Given the description of an element on the screen output the (x, y) to click on. 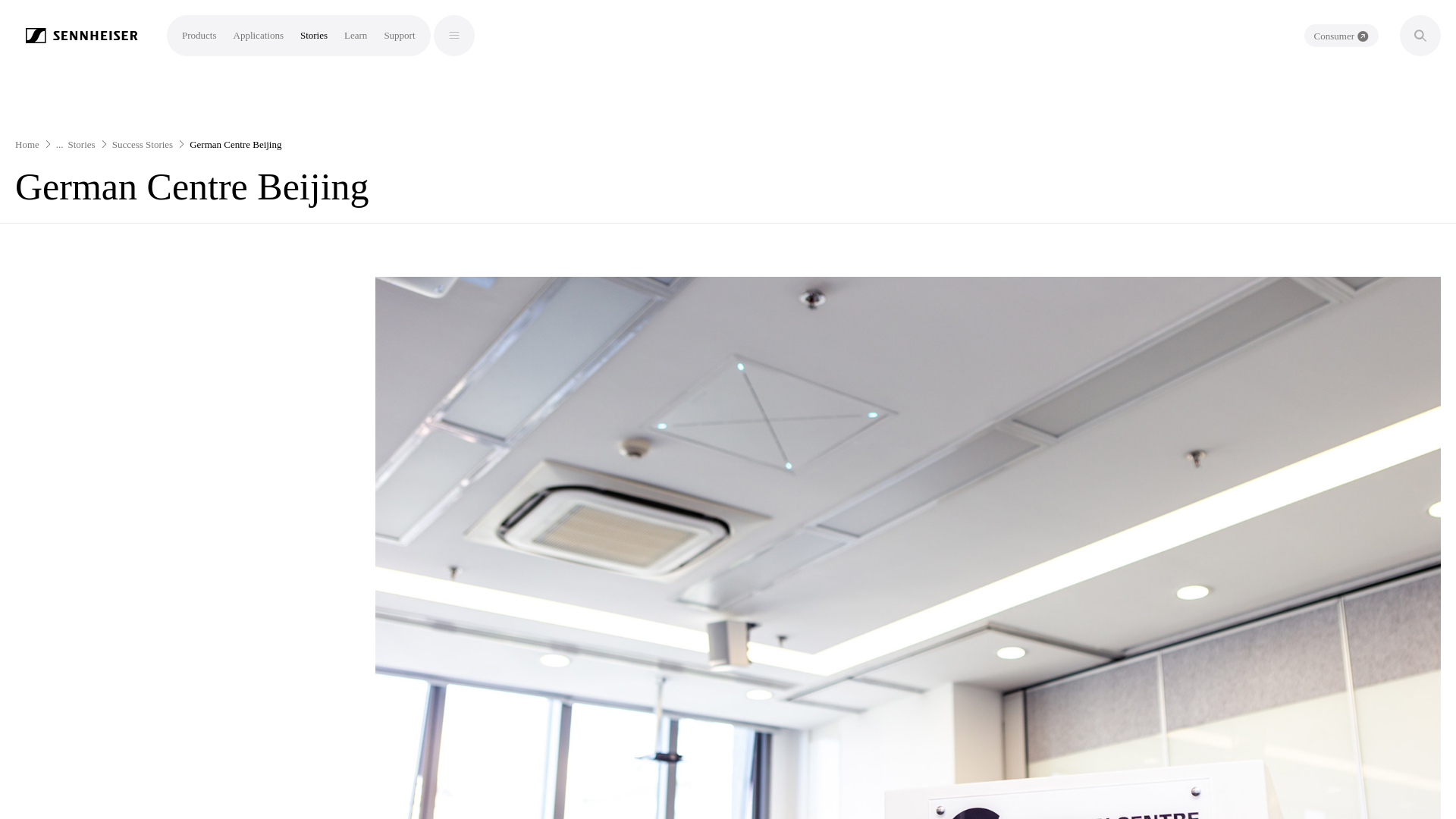
Applications (257, 35)
Consumer (1341, 35)
Stories (313, 35)
Products (199, 35)
Support (399, 35)
Learn (354, 35)
Stories (82, 144)
Home (26, 144)
Success Stories (142, 144)
